Given the description of an element on the screen output the (x, y) to click on. 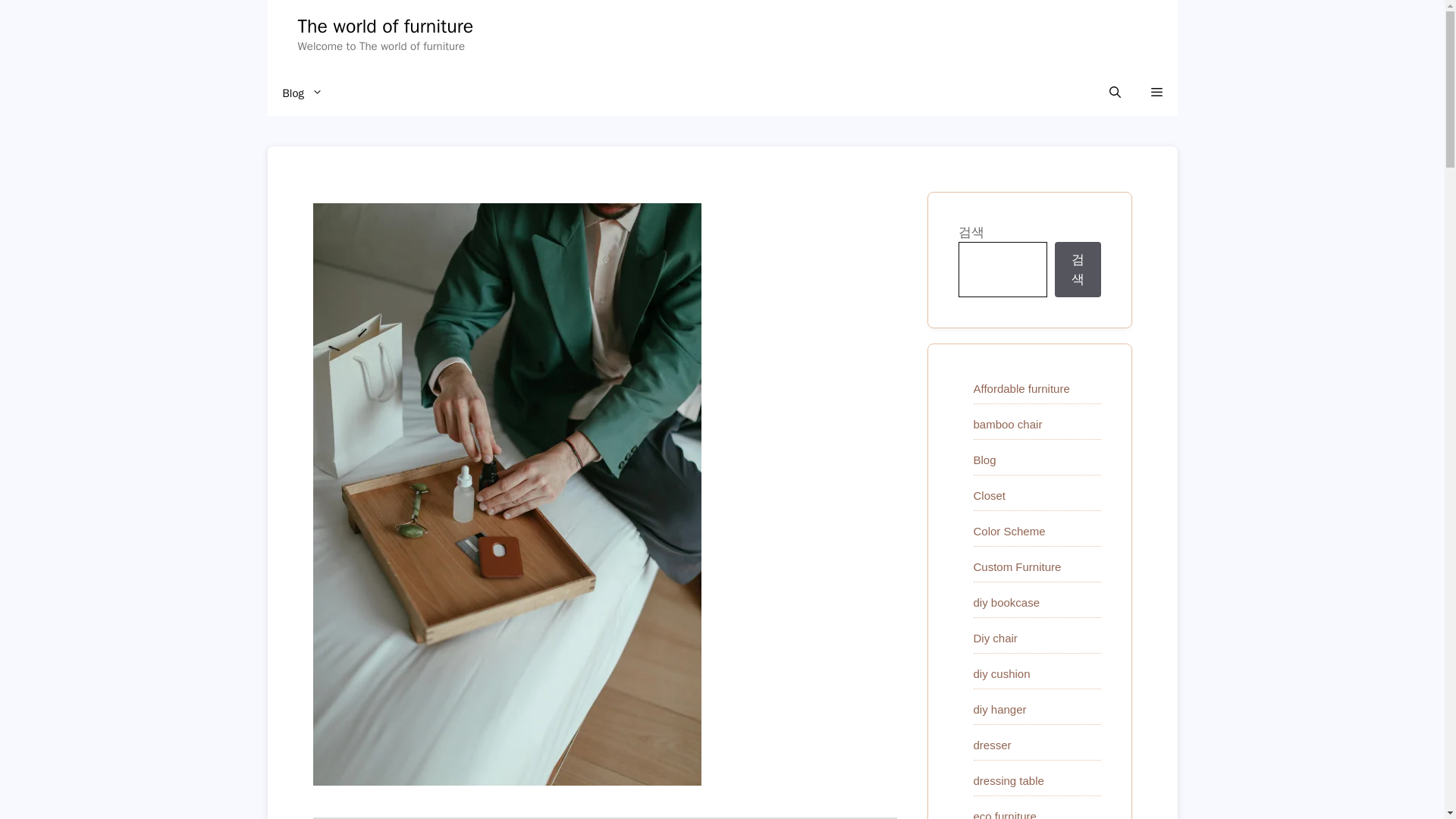
bamboo chair (1008, 423)
The world of furniture (385, 25)
Affordable furniture (1022, 388)
Blog (301, 92)
Blog (984, 459)
